Given the description of an element on the screen output the (x, y) to click on. 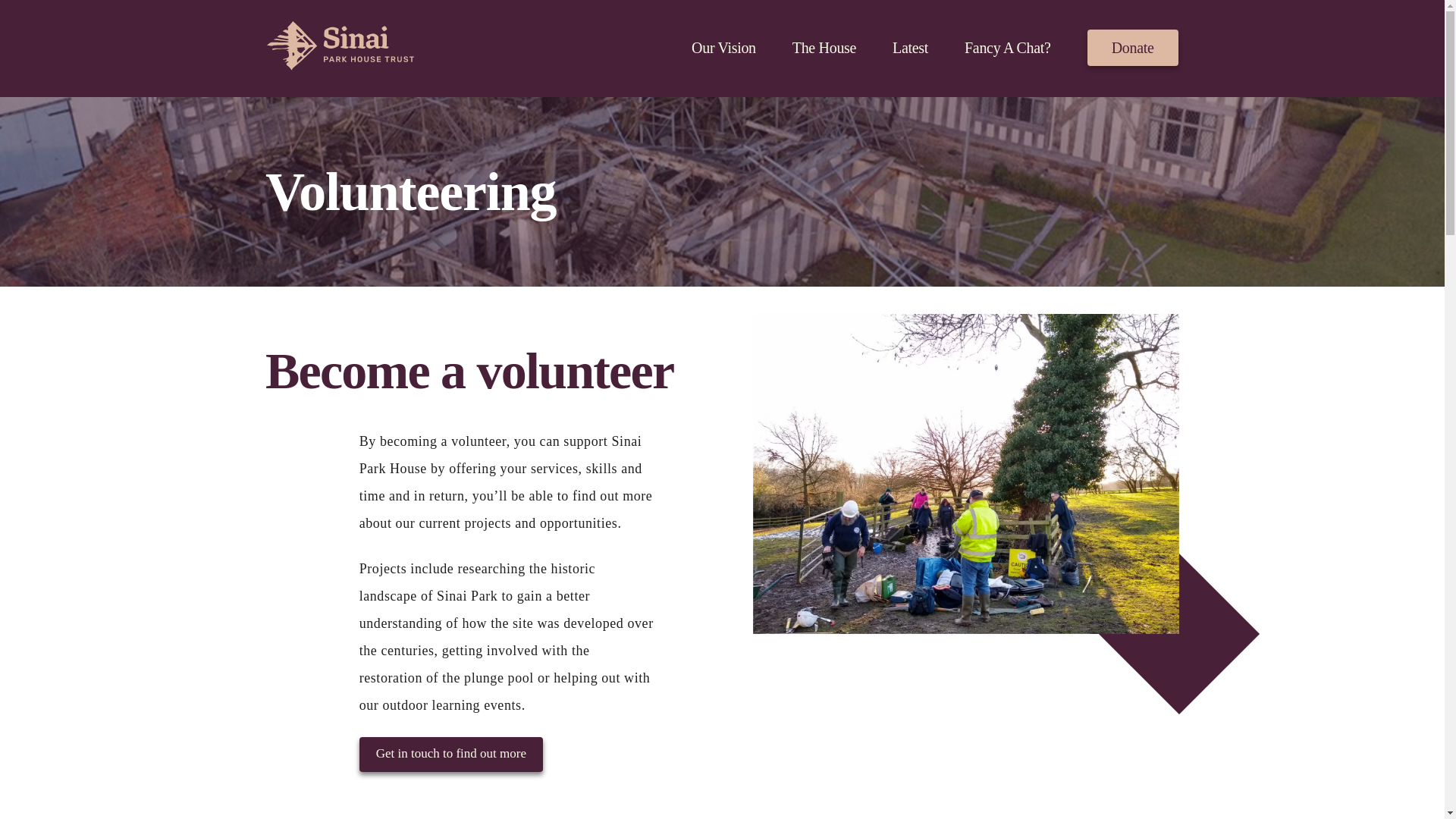
The House (824, 47)
Get in touch to find out more (451, 753)
Get in touch to find out more (451, 754)
Donate (1132, 47)
Our Vision (723, 47)
Fancy A Chat? (1007, 47)
Latest (910, 47)
